Given the description of an element on the screen output the (x, y) to click on. 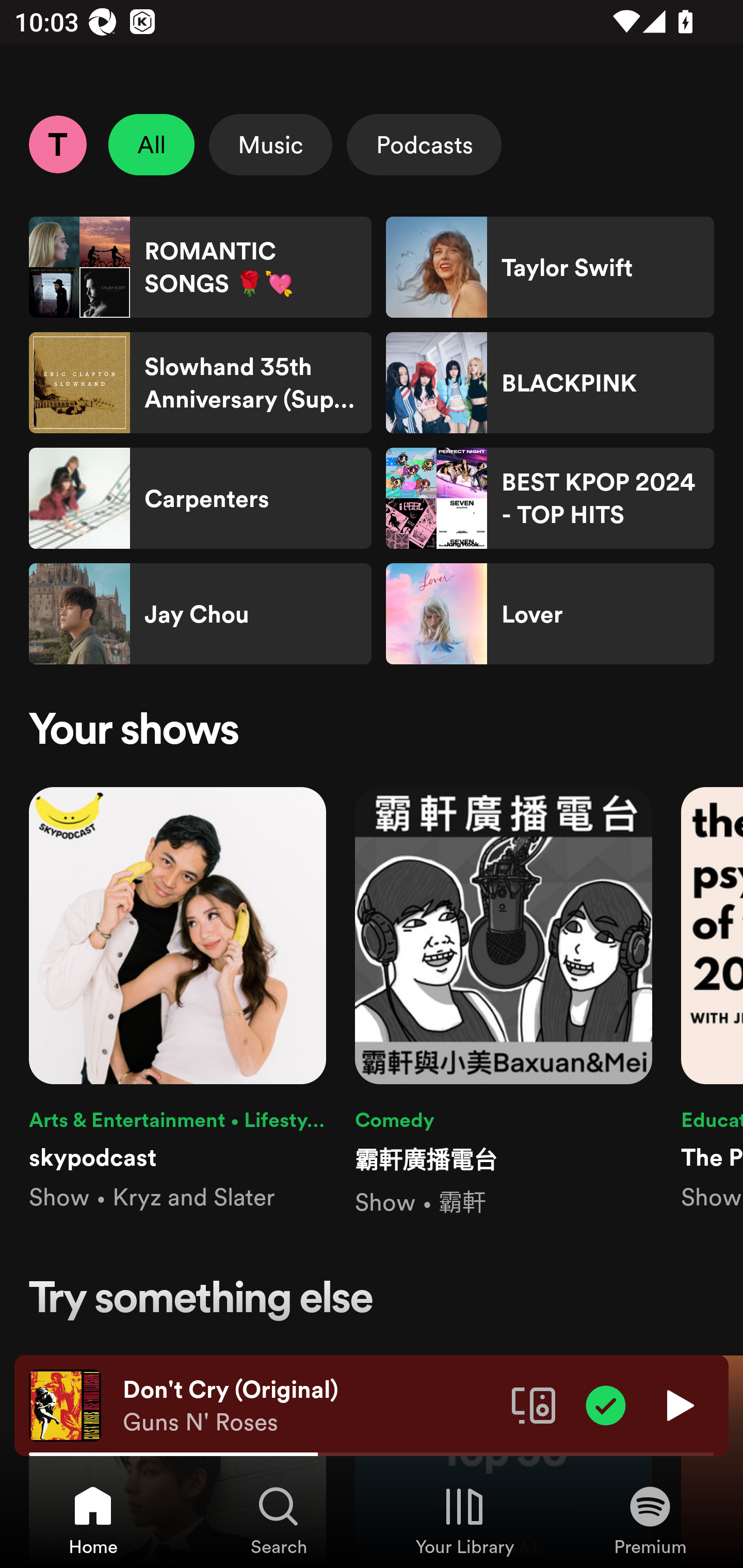
Profile (57, 144)
All Unselect All (151, 144)
Music Select Music (270, 144)
Podcasts Select Podcasts (423, 144)
ROMANTIC SONGS 🌹💘 Shortcut ROMANTIC SONGS 🌹💘 (199, 267)
Taylor Swift Shortcut Taylor Swift (549, 267)
BLACKPINK Shortcut BLACKPINK (549, 382)
Carpenters Shortcut Carpenters (199, 498)
Jay Chou Shortcut Jay Chou (199, 613)
Lover Shortcut Lover (549, 613)
Comedy 霸軒廣播電台 Show • 霸軒 (503, 1002)
Don't Cry (Original) Guns N' Roses (309, 1405)
The cover art of the currently playing track (64, 1404)
Connect to a device. Opens the devices menu (533, 1404)
Item added (605, 1404)
Play (677, 1404)
Home, Tab 1 of 4 Home Home (92, 1519)
Search, Tab 2 of 4 Search Search (278, 1519)
Your Library, Tab 3 of 4 Your Library Your Library (464, 1519)
Premium, Tab 4 of 4 Premium Premium (650, 1519)
